Given the description of an element on the screen output the (x, y) to click on. 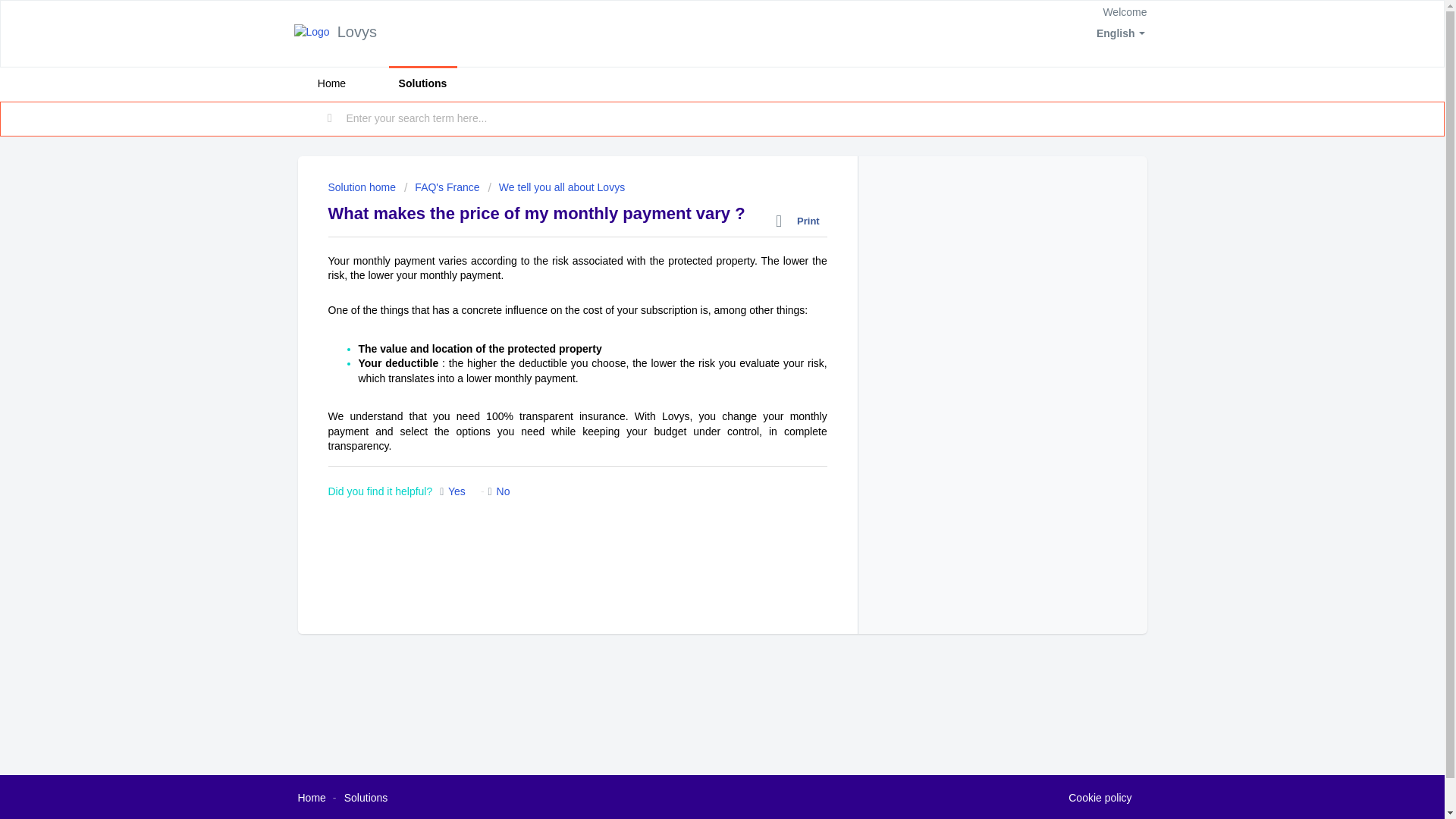
FAQ's France (442, 186)
Cookie policy (1099, 798)
We tell you all about Lovys (555, 186)
Solution home (362, 186)
Print (801, 220)
Why we love Cookies (1099, 798)
Solutions (365, 797)
Home (331, 83)
Home (310, 797)
Print this Article (801, 220)
Solutions (422, 83)
